Given the description of an element on the screen output the (x, y) to click on. 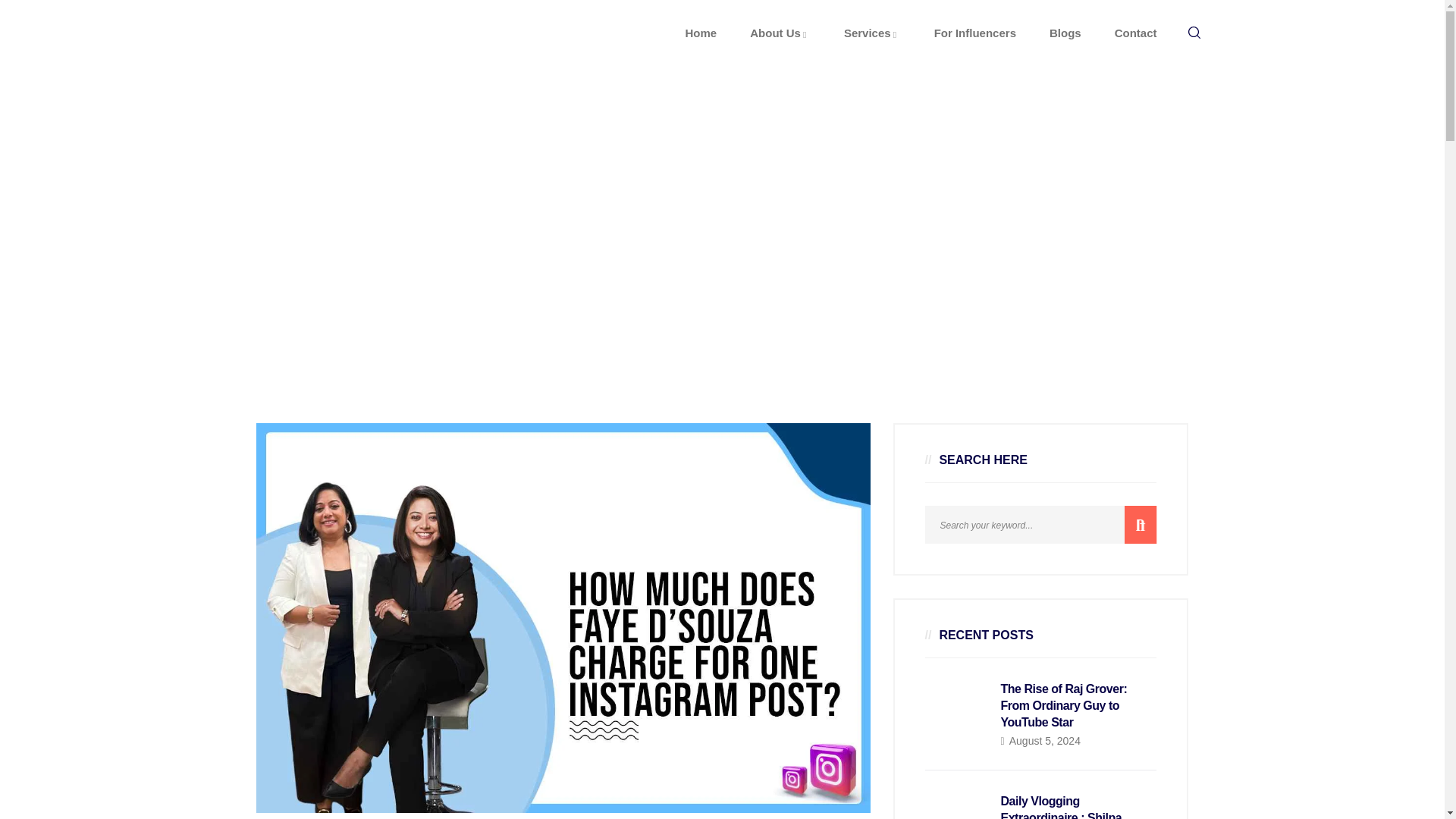
About Us (780, 33)
Services (872, 33)
For Influencers (975, 33)
